Given the description of an element on the screen output the (x, y) to click on. 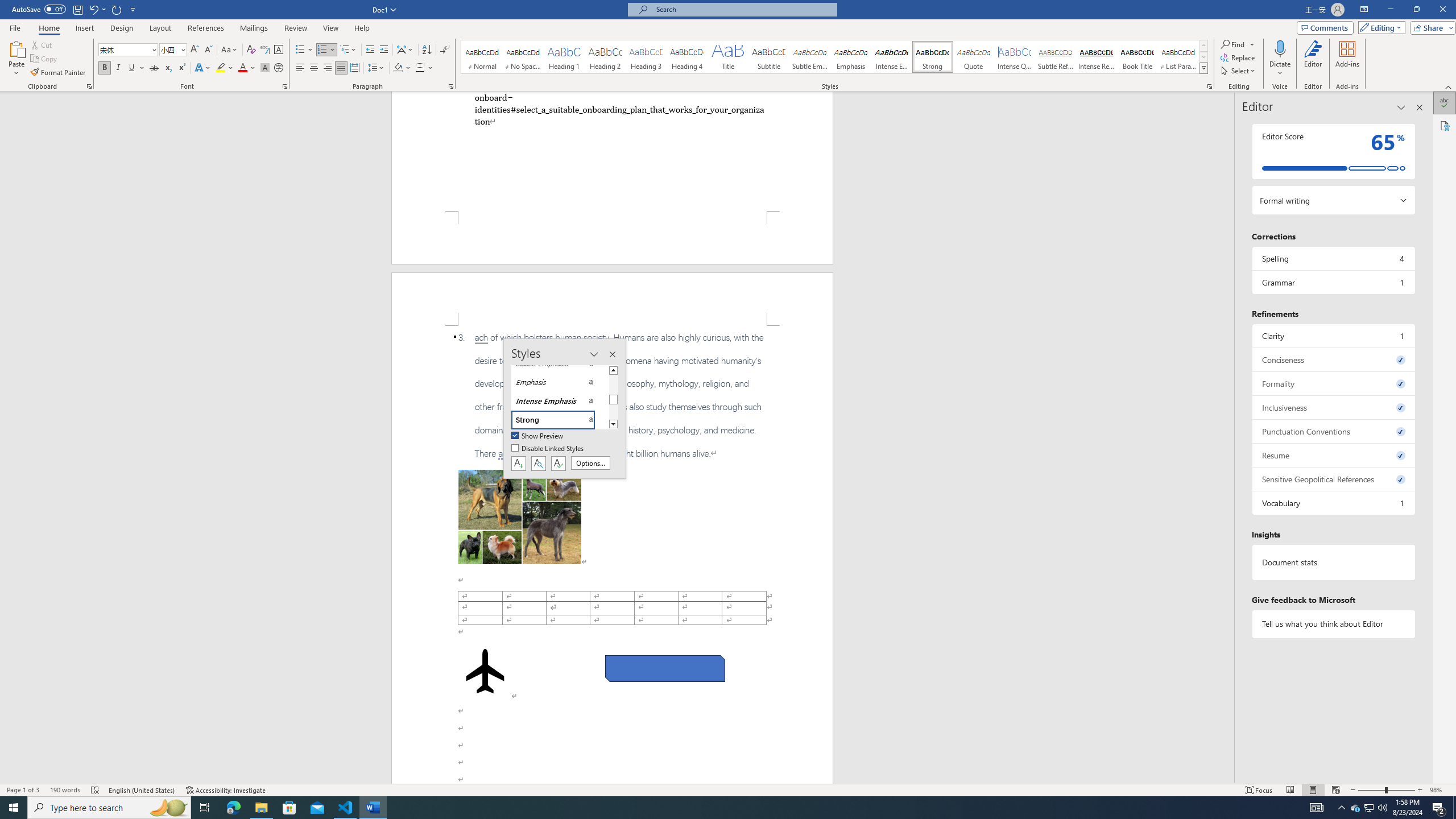
Class: NetUIButton (558, 463)
Resume, 0 issues. Press space or enter to review items. (1333, 454)
Strong (932, 56)
